Given the description of an element on the screen output the (x, y) to click on. 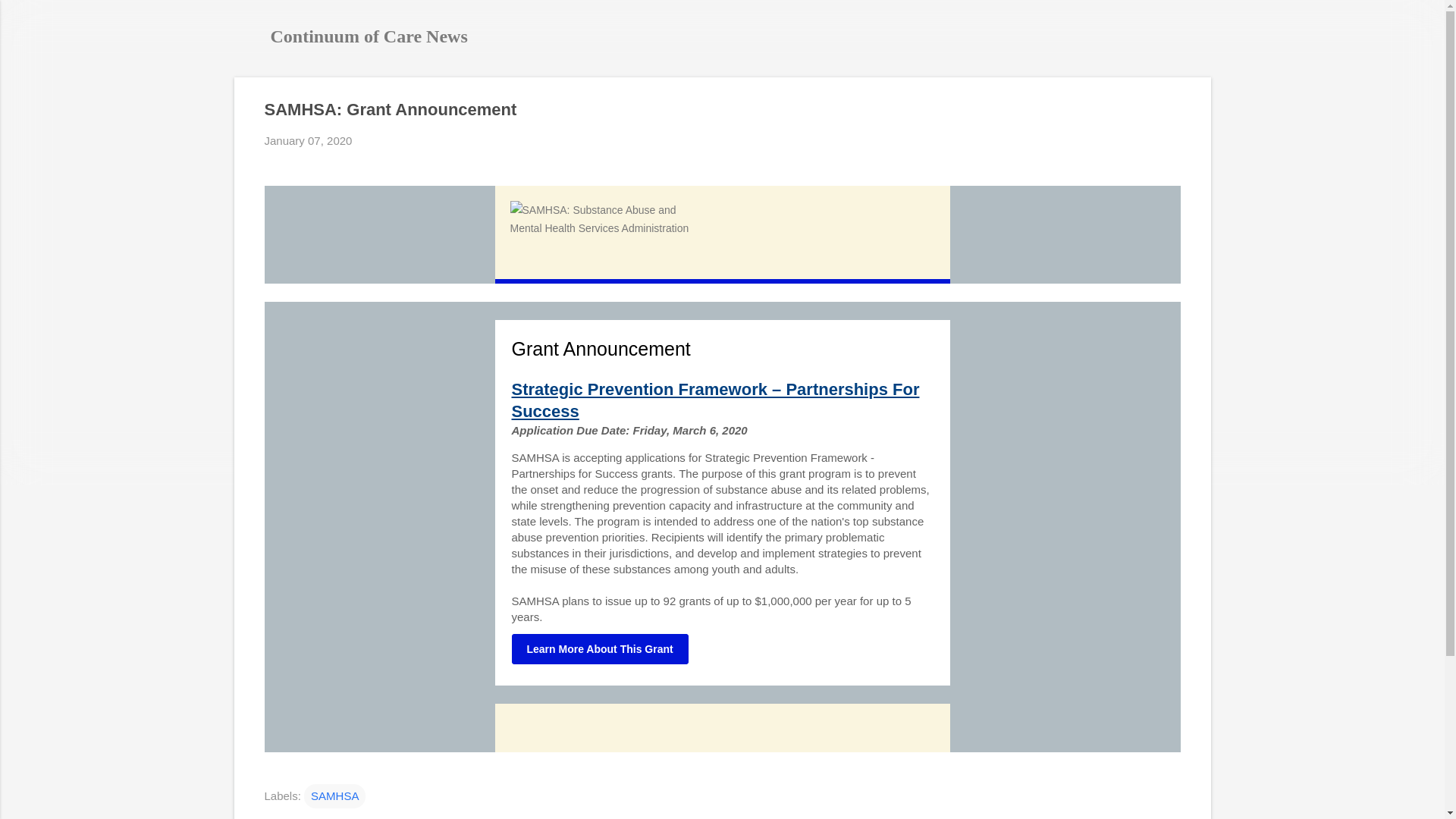
Continuum of Care News (368, 35)
permanent link (307, 140)
SAMHSA (334, 795)
Learn More About This Grant (599, 648)
January 07, 2020 (307, 140)
